Given the description of an element on the screen output the (x, y) to click on. 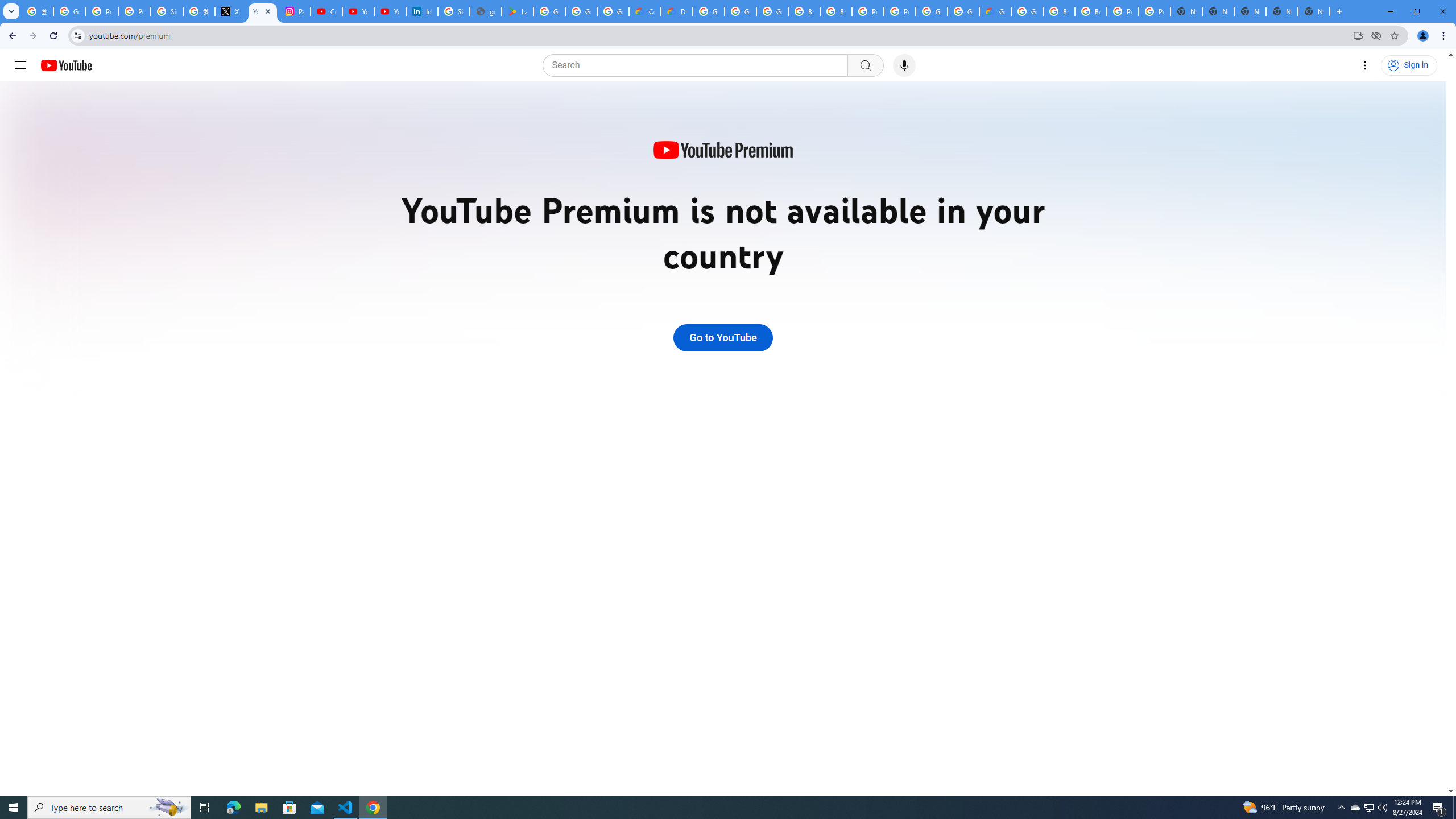
Customer Care | Google Cloud (644, 11)
YouTube Premium - YouTube (262, 11)
Guide (20, 65)
Google Cloud Platform (963, 11)
X (230, 11)
YouTube Culture & Trends - YouTube Top 10, 2021 (389, 11)
YouTube Home (66, 65)
Privacy Help Center - Policies Help (134, 11)
